Given the description of an element on the screen output the (x, y) to click on. 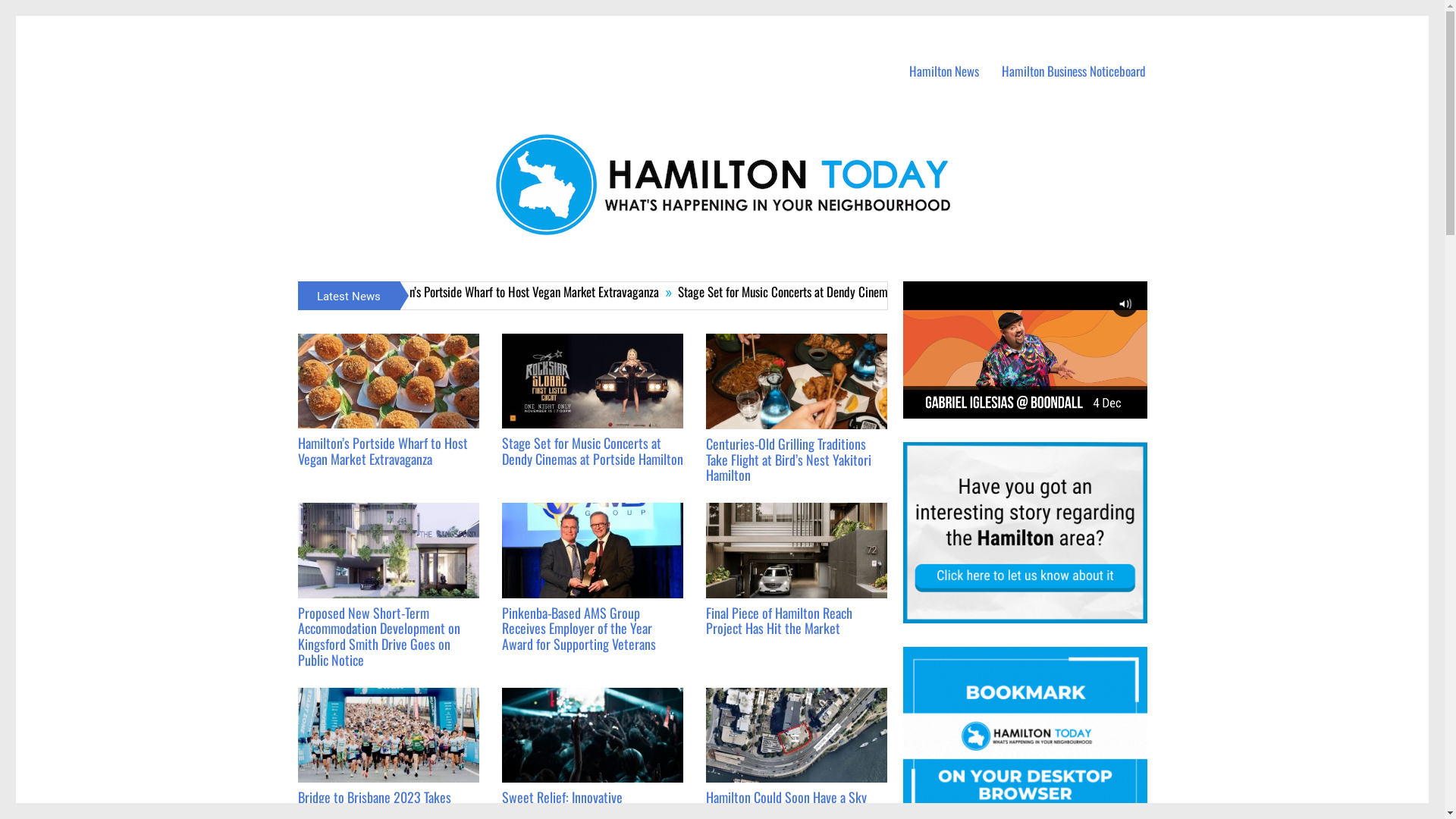
Hamilton News Element type: text (943, 71)
Hamilton Today Element type: text (356, 44)
Hamilton Business Noticeboard Element type: text (1073, 71)
Final Piece of Hamilton Reach Project Has Hit the Market Element type: text (779, 619)
